Given the description of an element on the screen output the (x, y) to click on. 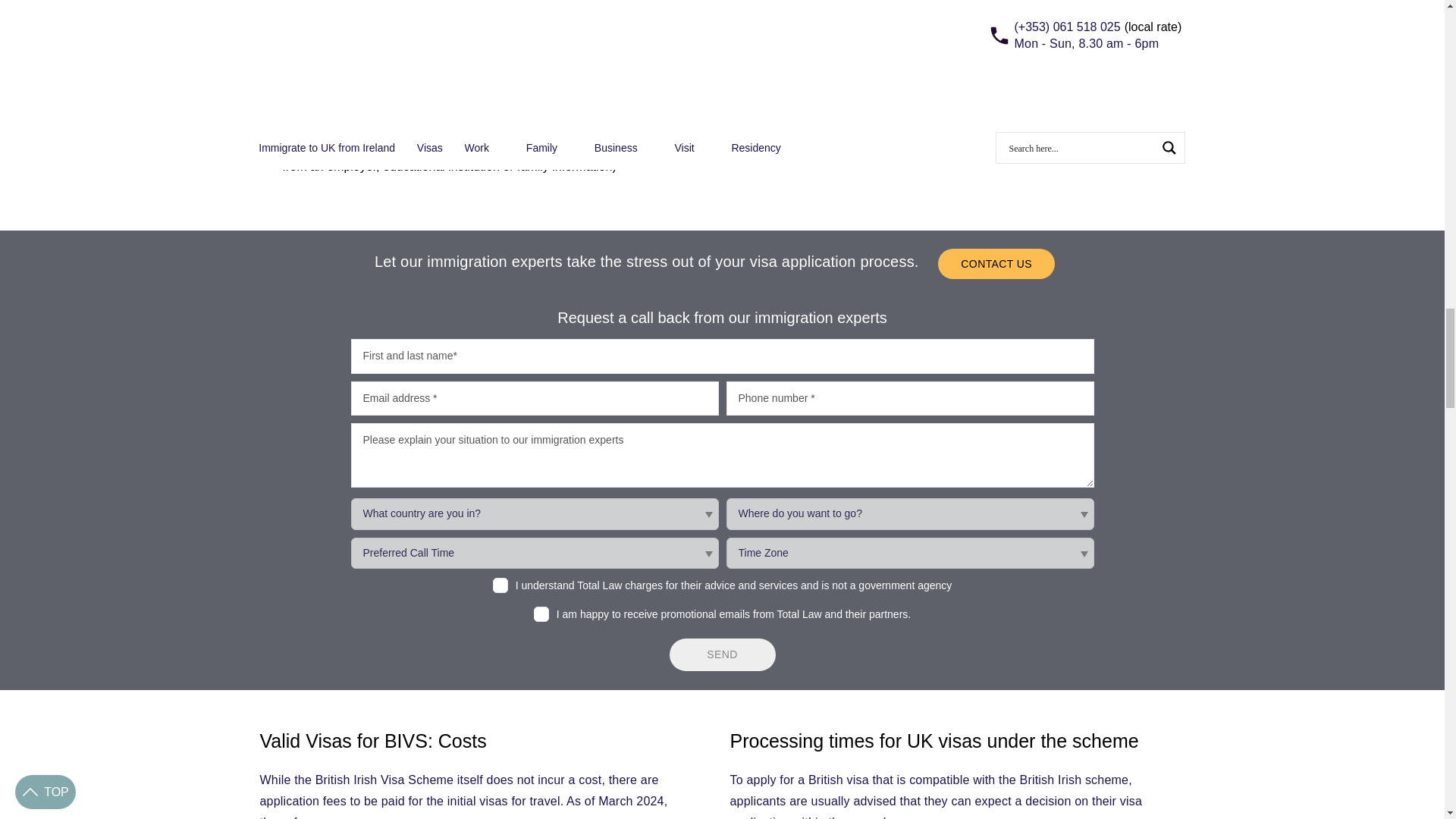
SEND (721, 654)
